Given the description of an element on the screen output the (x, y) to click on. 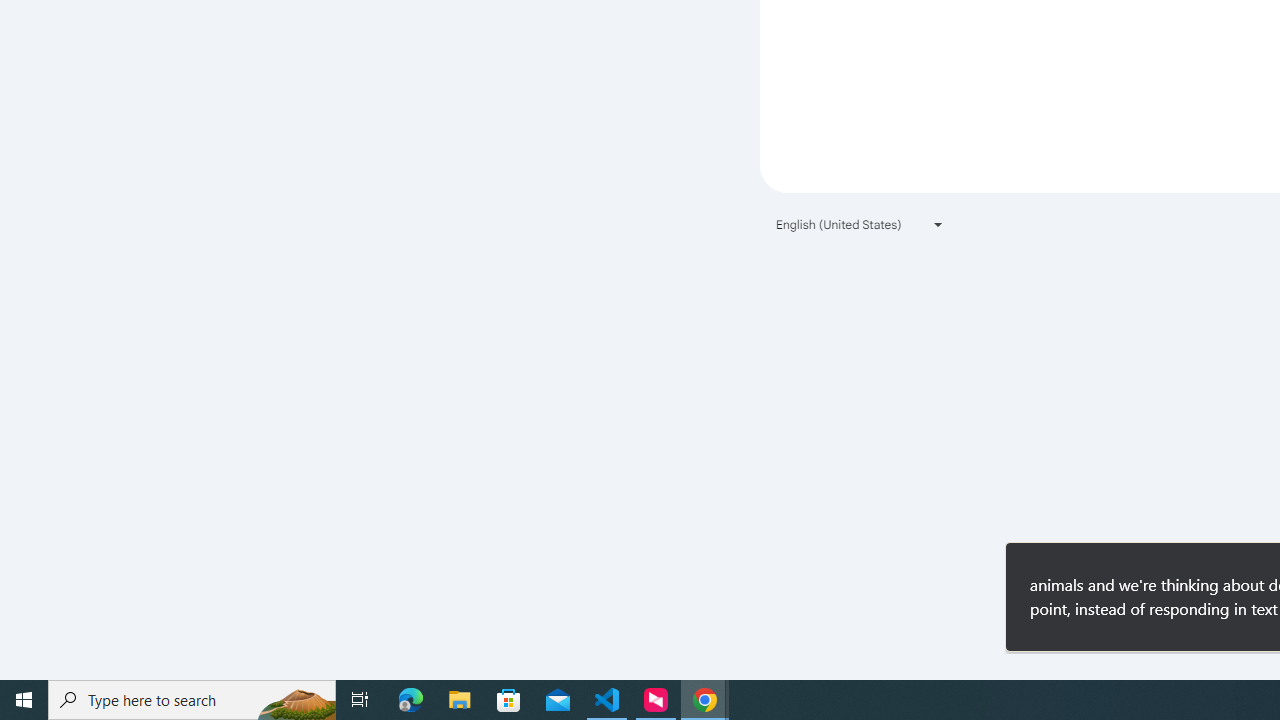
English (United States) (860, 224)
